Given the description of an element on the screen output the (x, y) to click on. 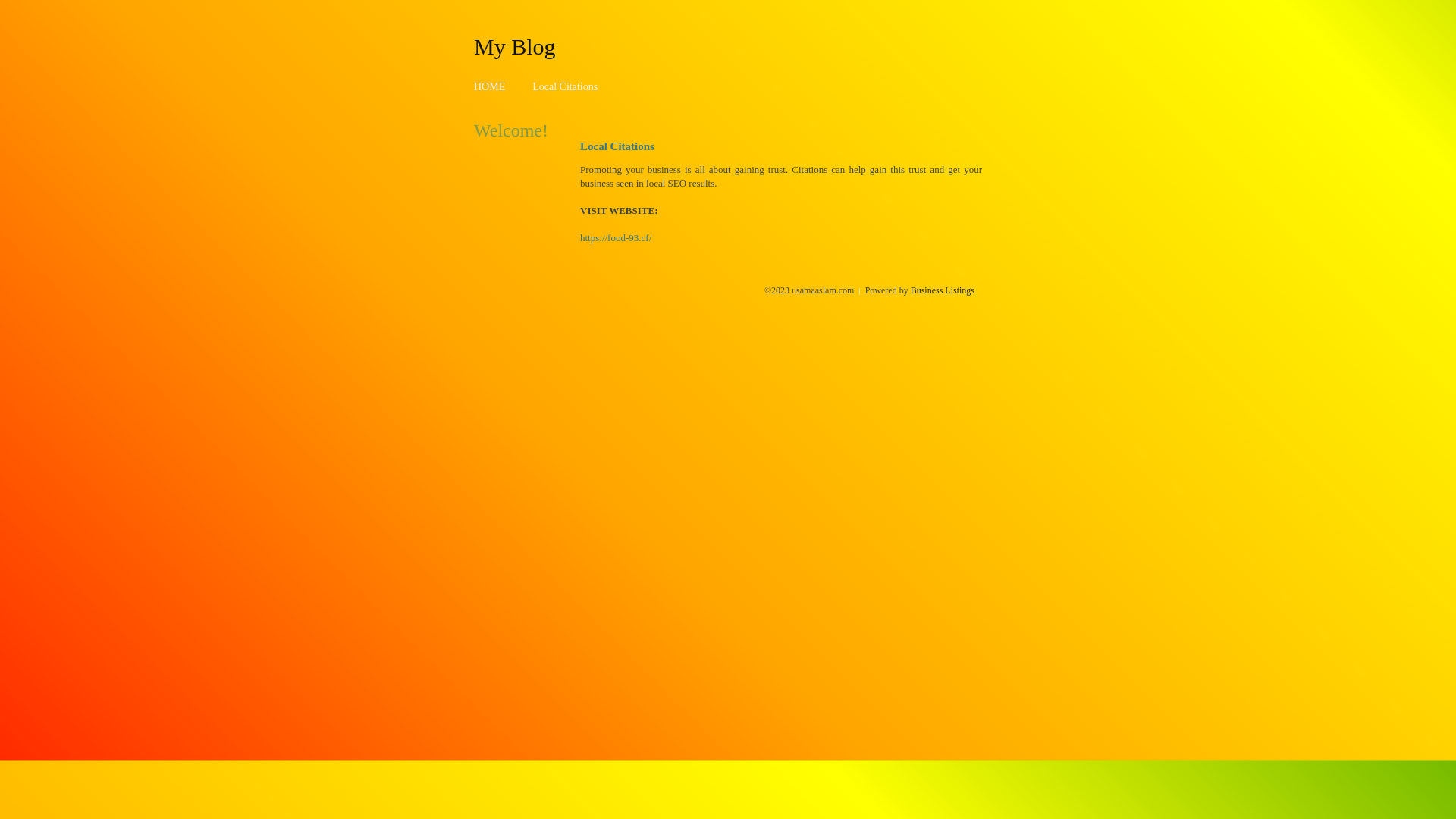
HOME Element type: text (489, 86)
https://food-93.cf/ Element type: text (615, 237)
My Blog Element type: text (514, 46)
Local Citations Element type: text (564, 86)
Business Listings Element type: text (942, 290)
